Given the description of an element on the screen output the (x, y) to click on. 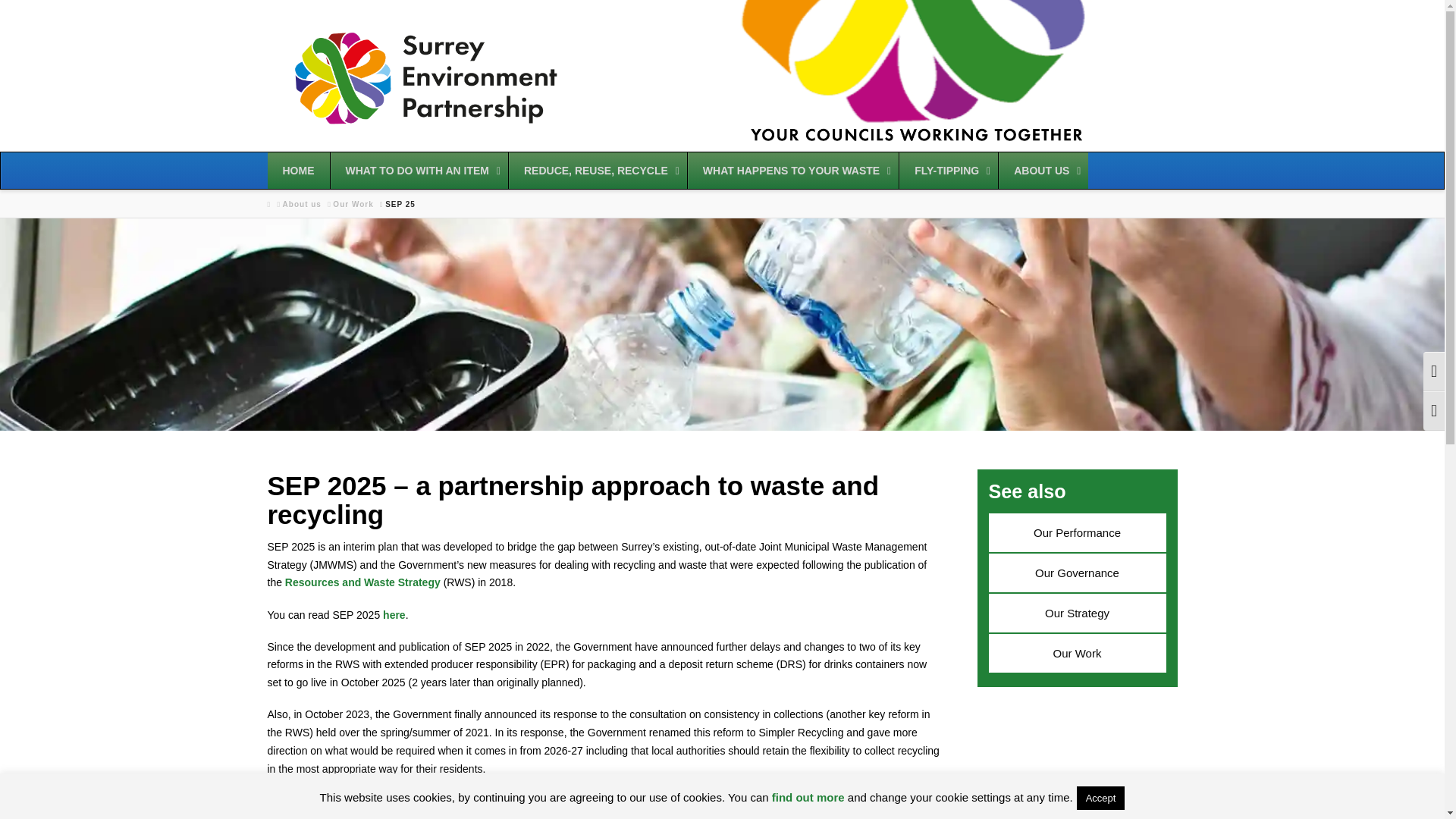
REDUCE, REUSE, RECYCLE (597, 170)
WHAT TO DO WITH AN ITEM (418, 170)
HOME (297, 170)
WHAT HAPPENS TO YOUR WASTE (792, 170)
Surrey Environment Partnership (425, 78)
